Given the description of an element on the screen output the (x, y) to click on. 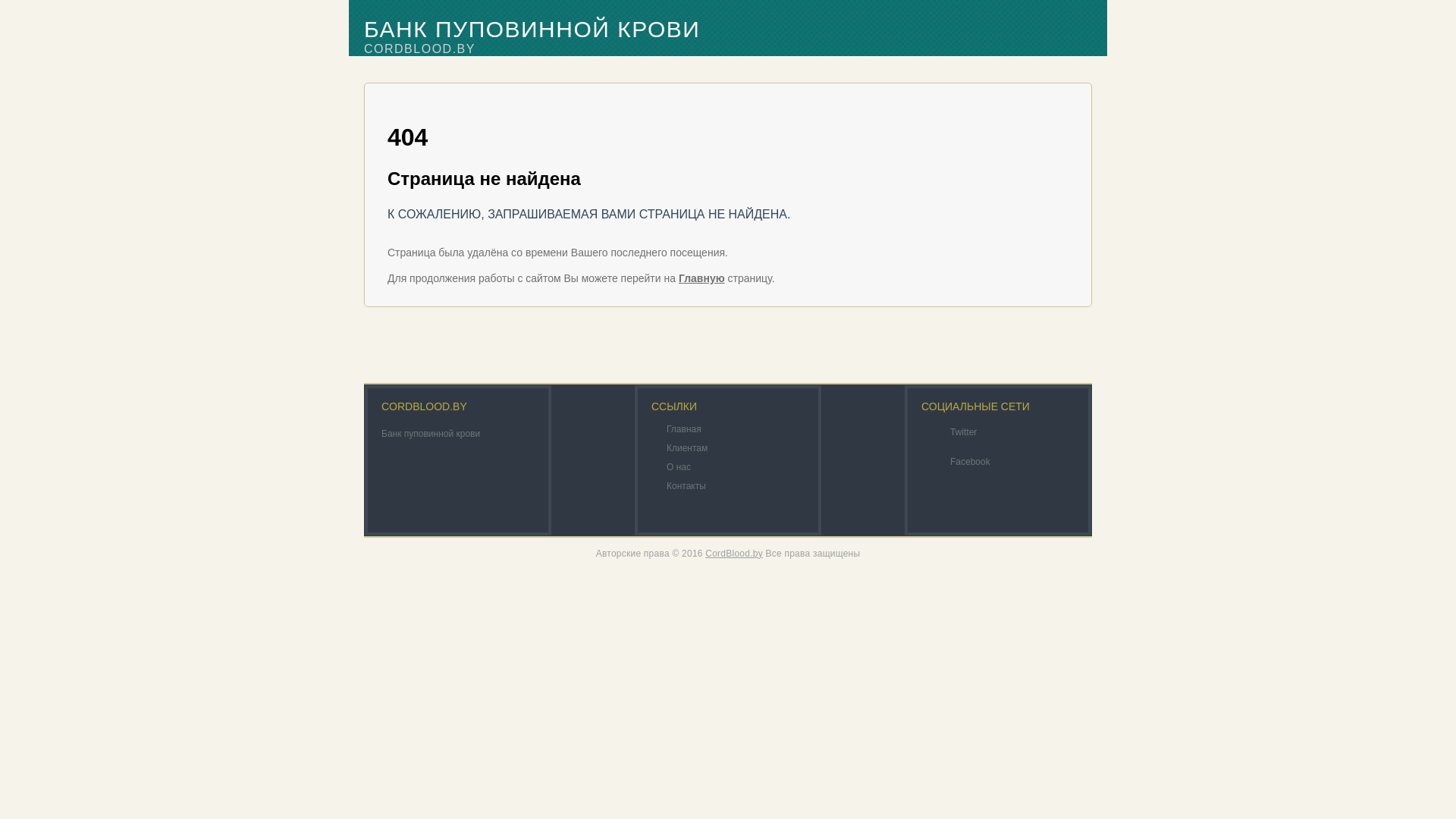
Facebook Element type: text (981, 460)
Twitter Element type: text (981, 431)
